Given the description of an element on the screen output the (x, y) to click on. 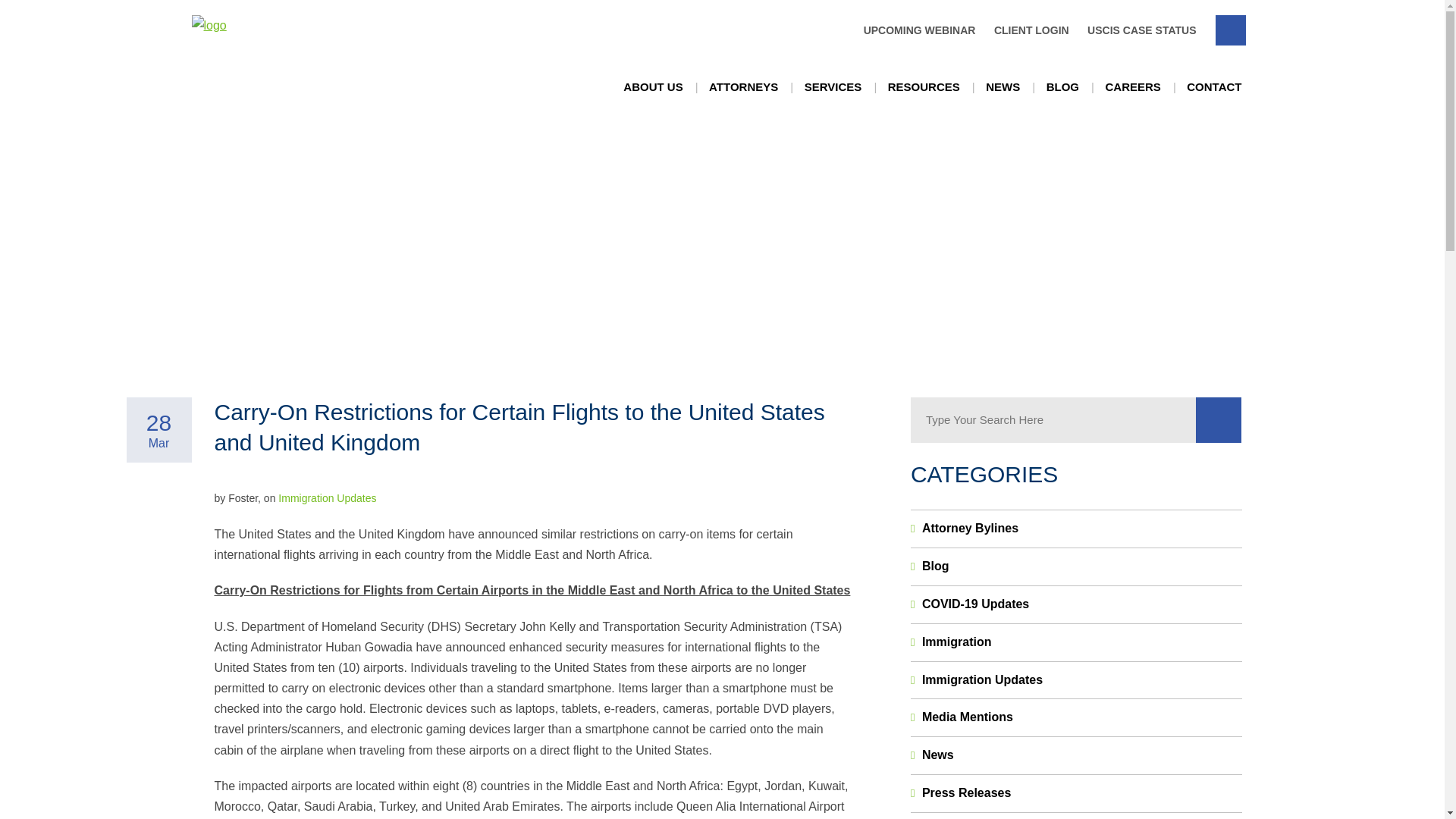
CAREERS (1131, 87)
Immigration Updates (326, 498)
ATTORNEYS (743, 87)
SERVICES (833, 87)
NEWS (1003, 87)
USCIS CASE STATUS (1137, 30)
BLOG (1062, 87)
SEARCH (1229, 30)
CONTACT (1214, 87)
CLIENT LOGIN (1027, 30)
